Given the description of an element on the screen output the (x, y) to click on. 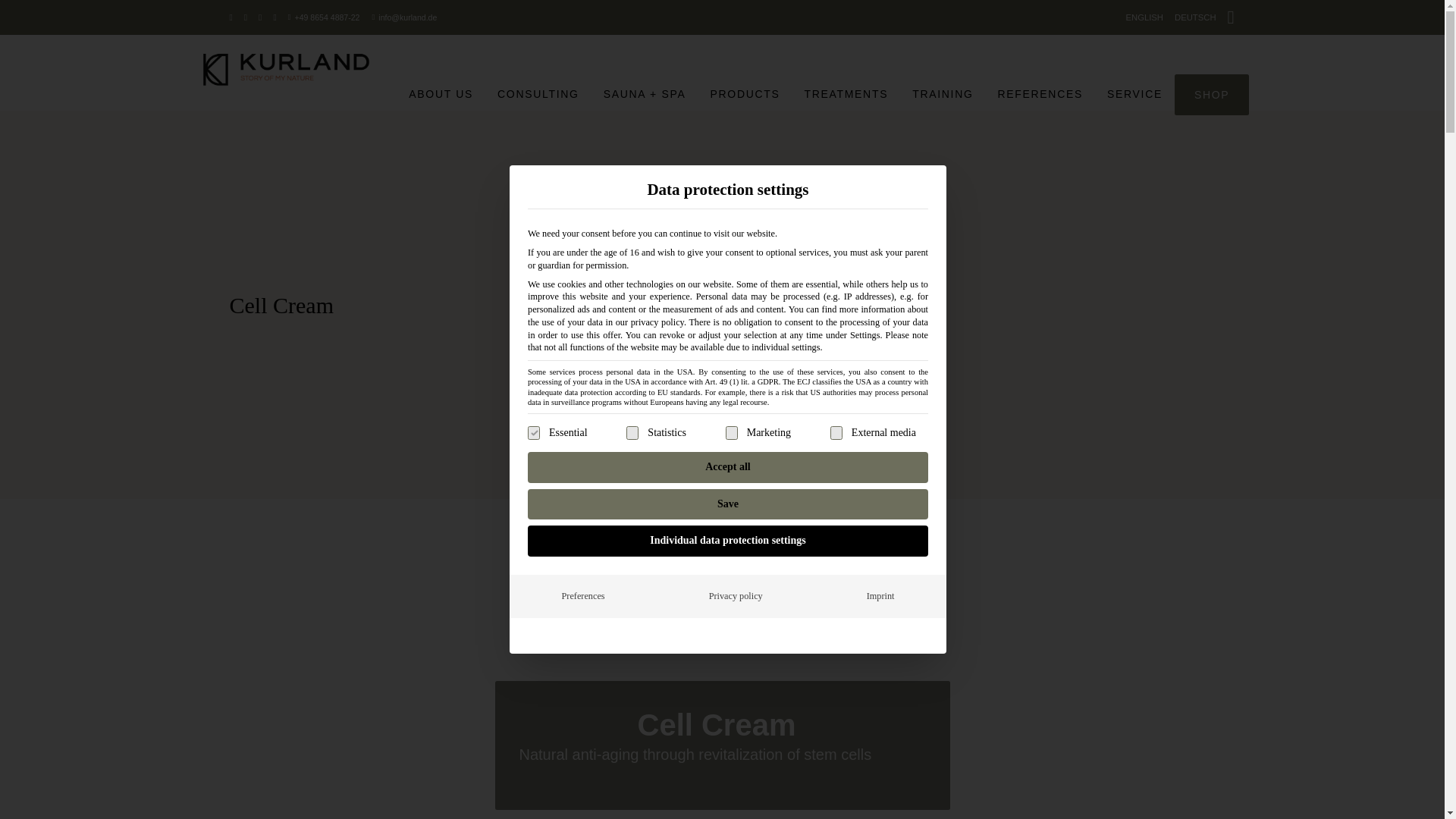
ENGLISH (1144, 17)
Shift-click to edit this widget. (327, 17)
on (836, 432)
DEUTSCH (1194, 17)
ABOUT US (440, 94)
Shift-click to edit this widget. (407, 17)
CONSULTING (537, 94)
